Given the description of an element on the screen output the (x, y) to click on. 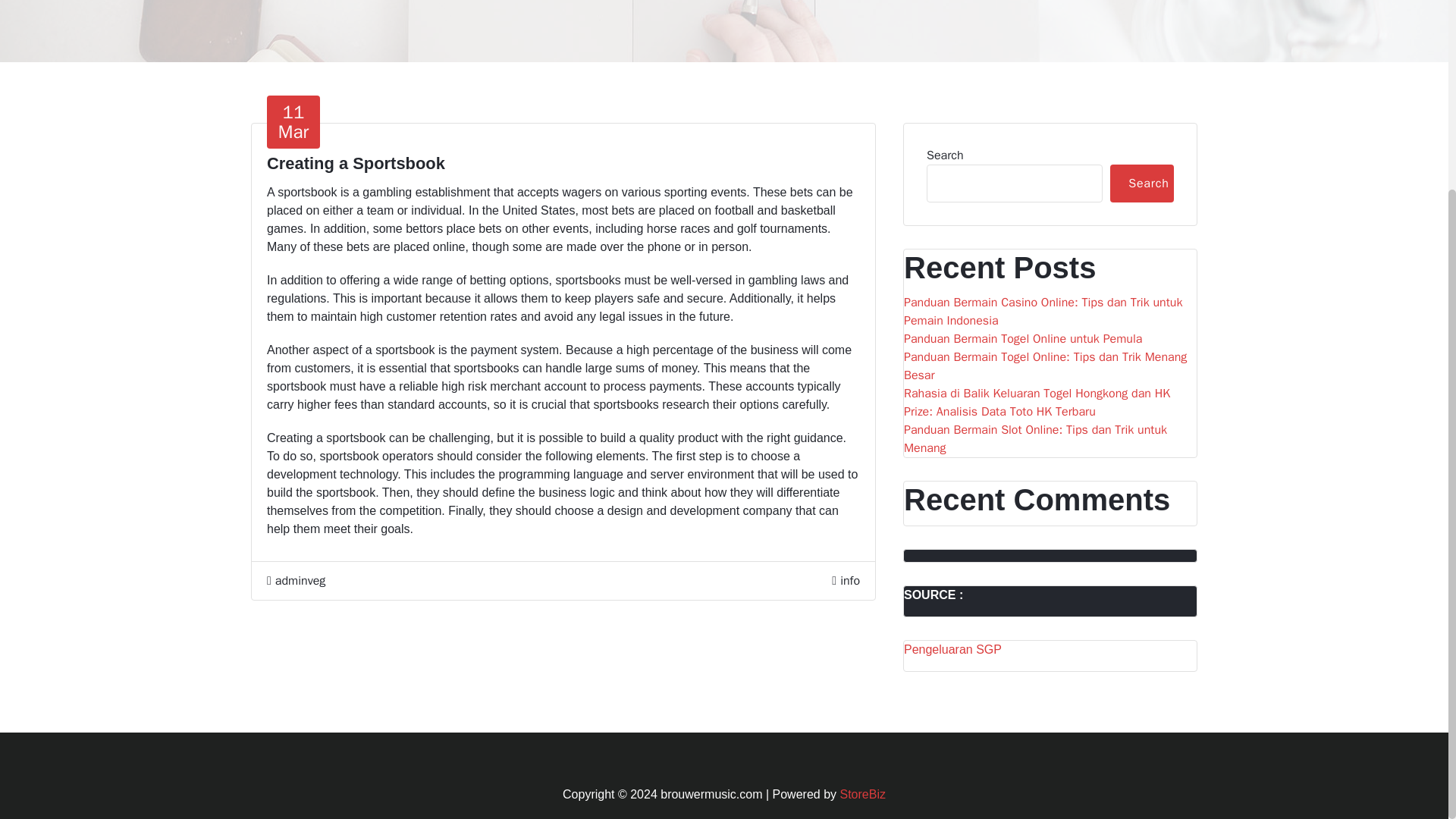
Pengeluaran SGP (952, 649)
adminveg (295, 580)
StoreBiz (862, 793)
info (850, 580)
Panduan Bermain Togel Online: Tips dan Trik Menang Besar (293, 121)
Panduan Bermain Slot Online: Tips dan Trik untuk Menang (1050, 366)
adminveg (1050, 438)
